Given the description of an element on the screen output the (x, y) to click on. 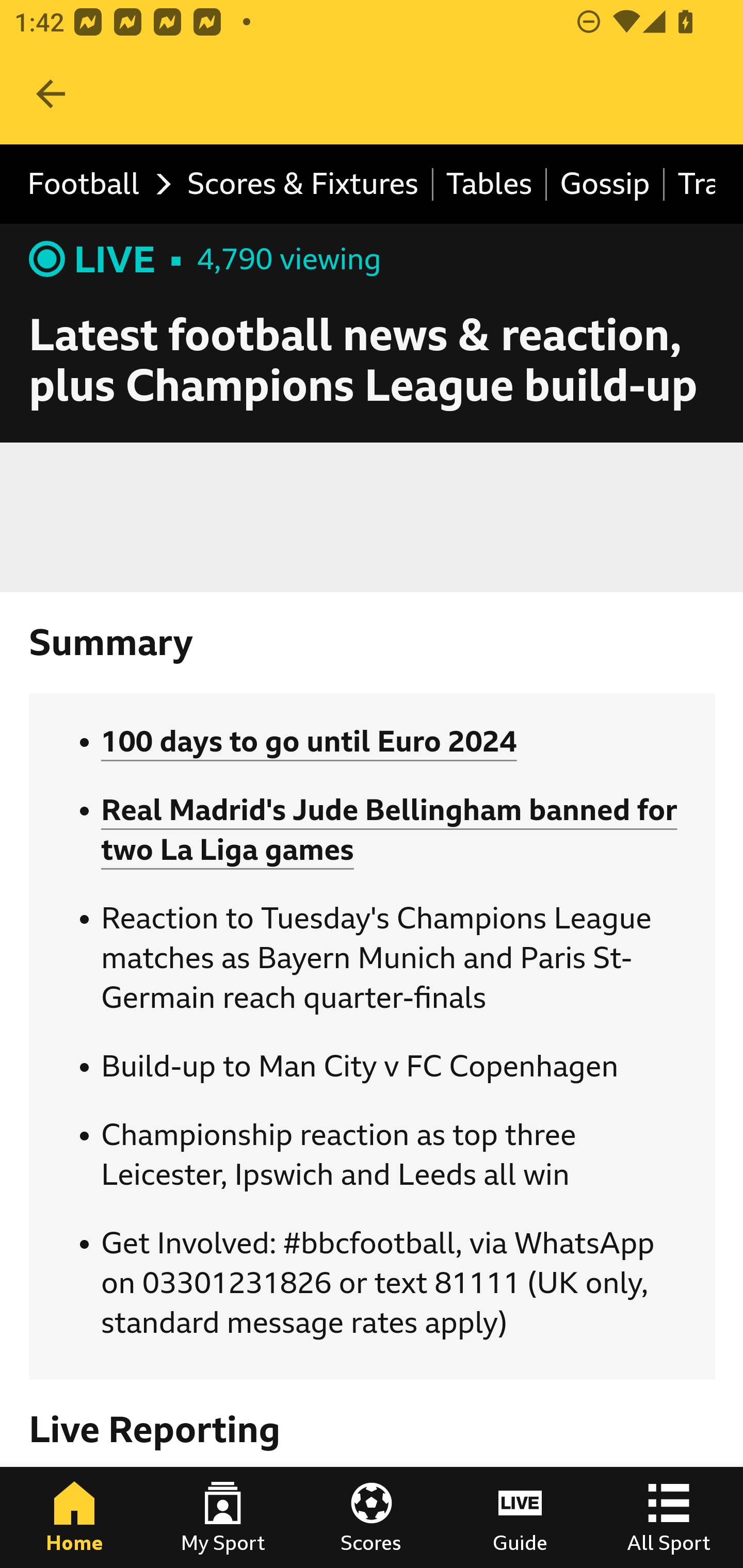
Navigate up (50, 93)
Football (94, 184)
Scores & Fixtures (303, 184)
Tables (490, 184)
Gossip (605, 184)
100 days to go until Euro 2024 (309, 742)
My Sport (222, 1517)
Scores (371, 1517)
Guide (519, 1517)
All Sport (668, 1517)
